Given the description of an element on the screen output the (x, y) to click on. 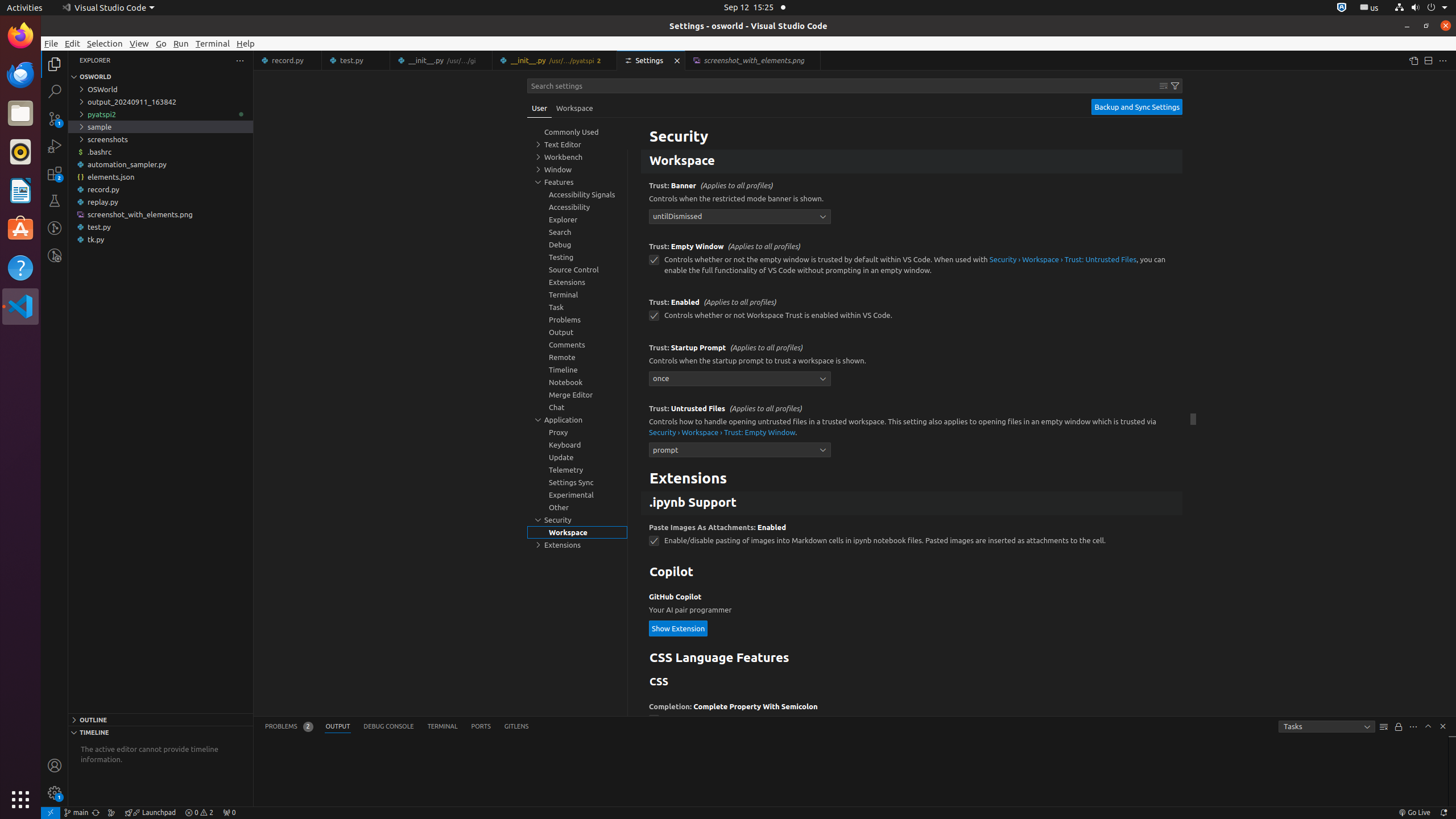
screenshots Element type: tree-item (160, 139)
Extensions Element type: tree-item (911, 479)
tk.py Element type: tree-item (160, 239)
test.py Element type: tree-item (160, 226)
